Given the description of an element on the screen output the (x, y) to click on. 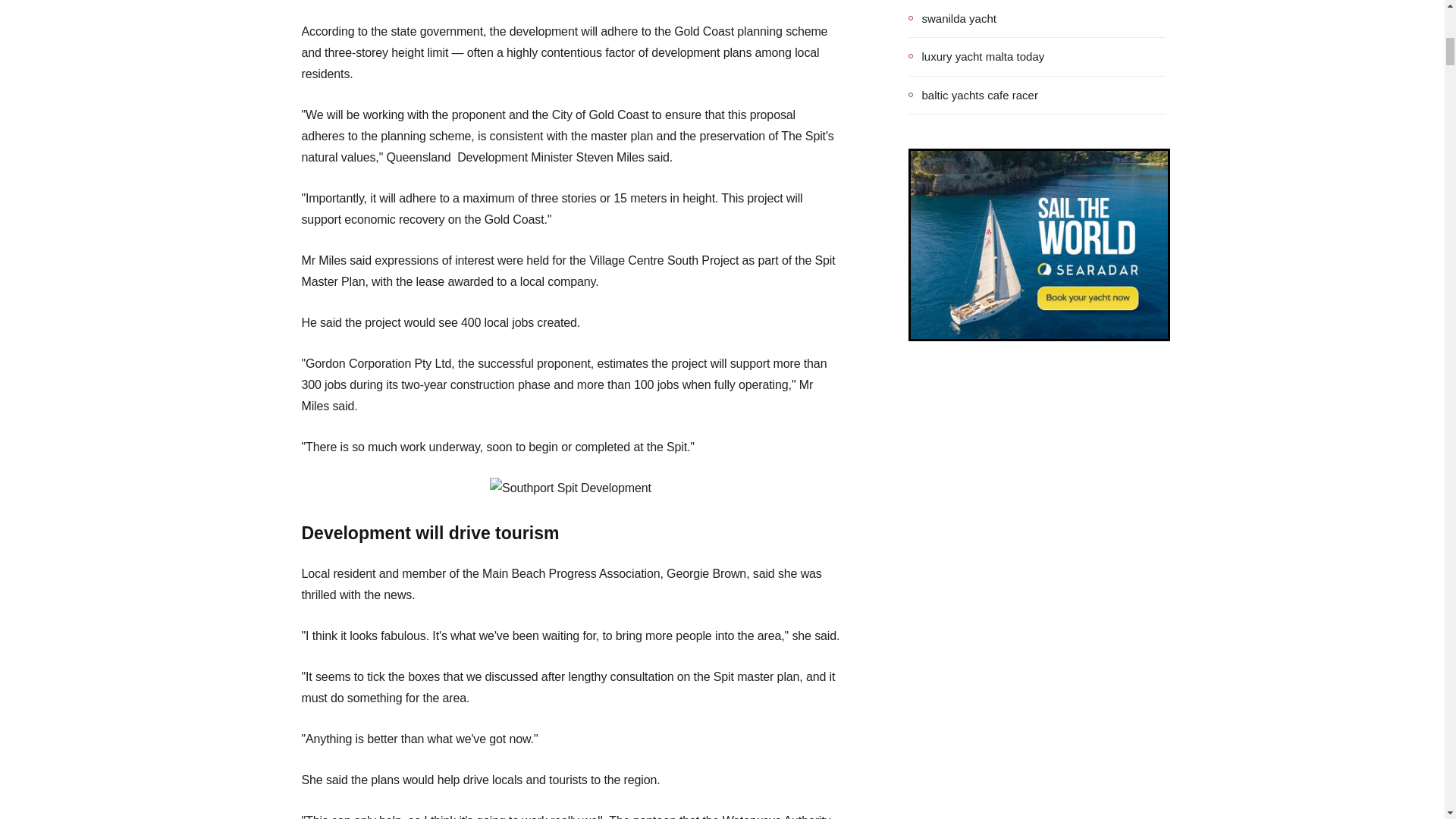
baltic yachts cafe racer (973, 94)
luxury yacht malta today (976, 56)
southport yacht club development (569, 487)
swanilda yacht (951, 18)
